Given the description of an element on the screen output the (x, y) to click on. 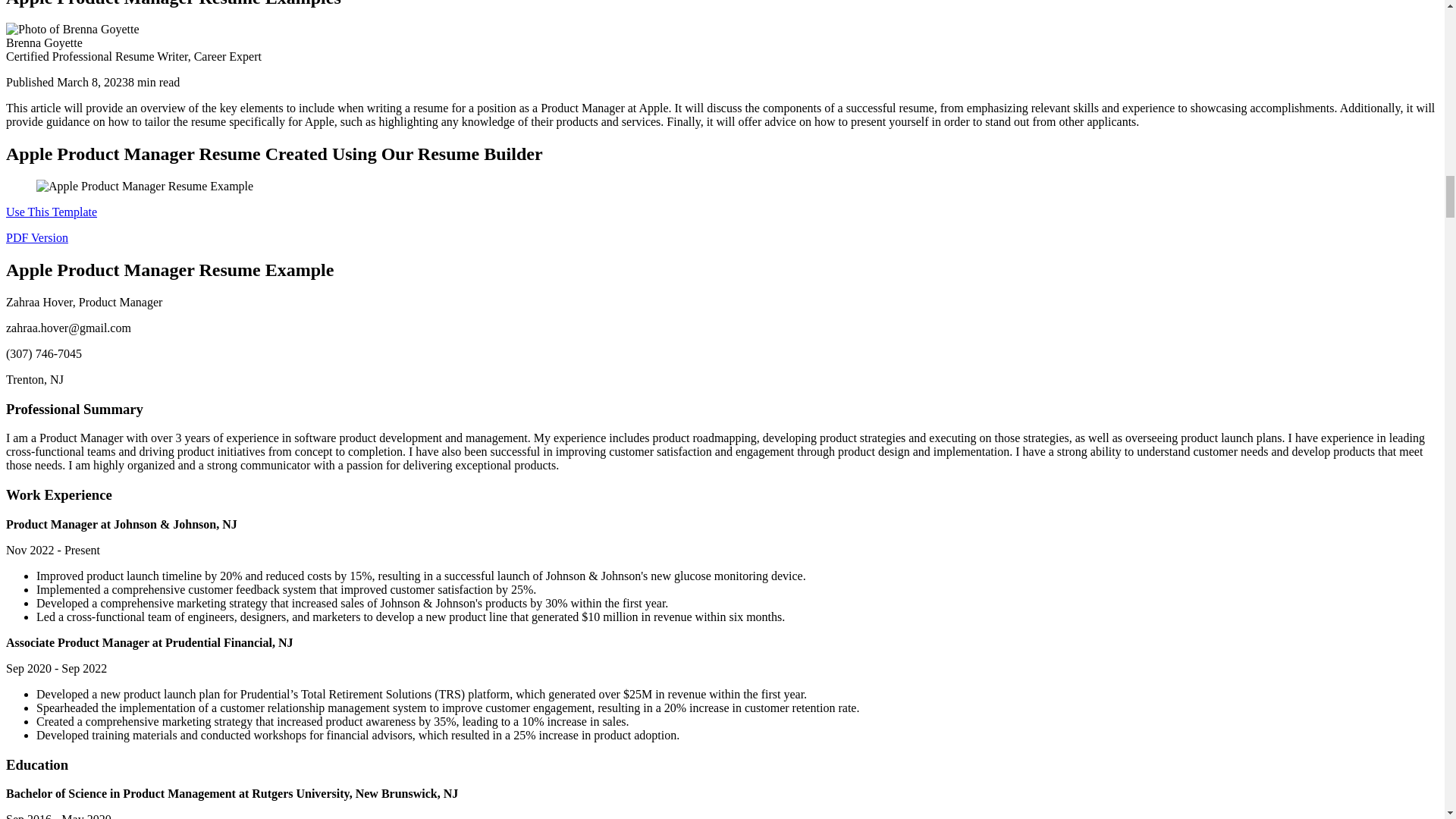
Use This Template (51, 211)
PDF Version (36, 237)
